Given the description of an element on the screen output the (x, y) to click on. 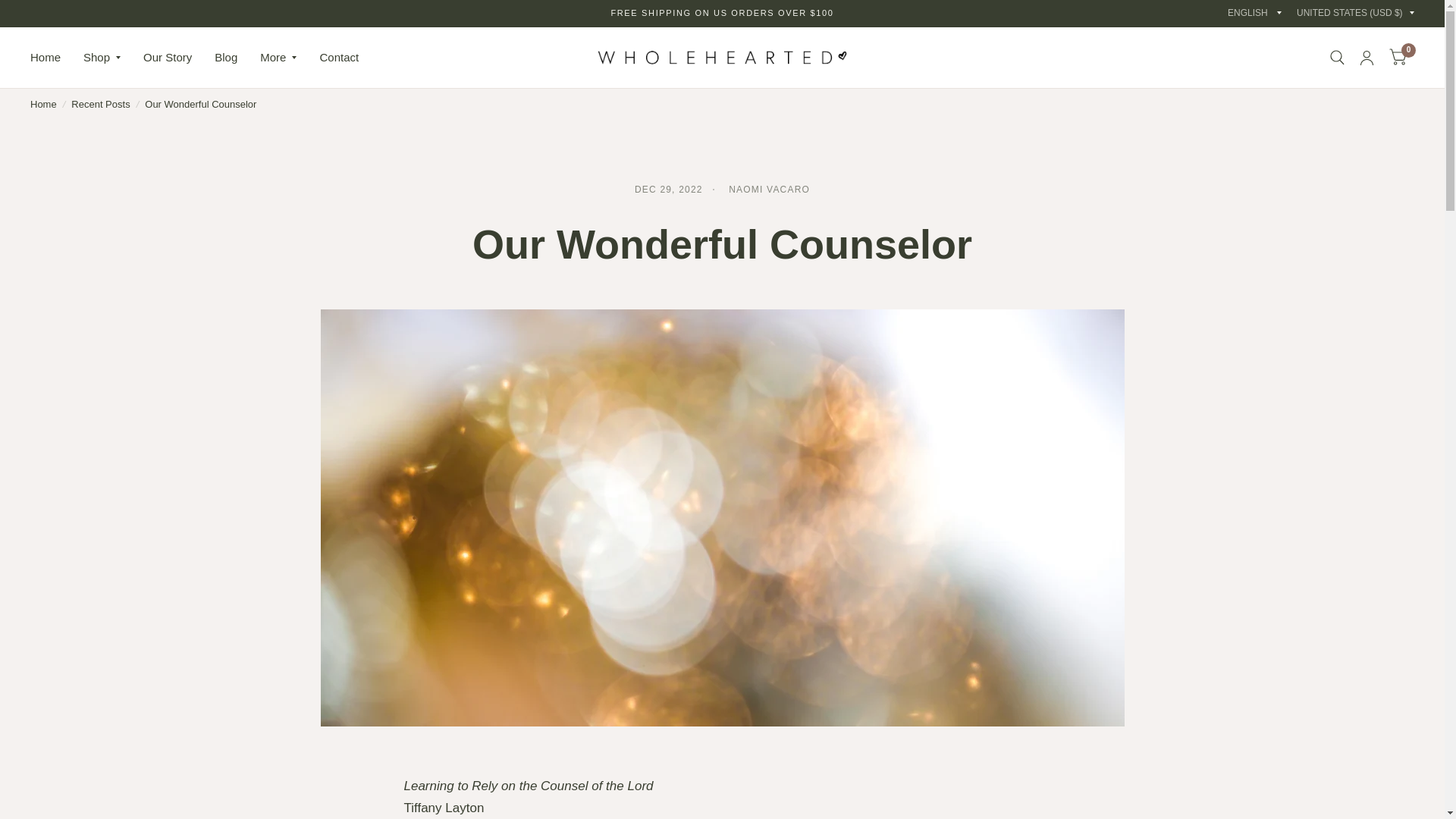
Shop (101, 57)
Contact (338, 57)
Recent Posts (100, 104)
Home (43, 104)
More (278, 57)
Our Story (167, 57)
